Given the description of an element on the screen output the (x, y) to click on. 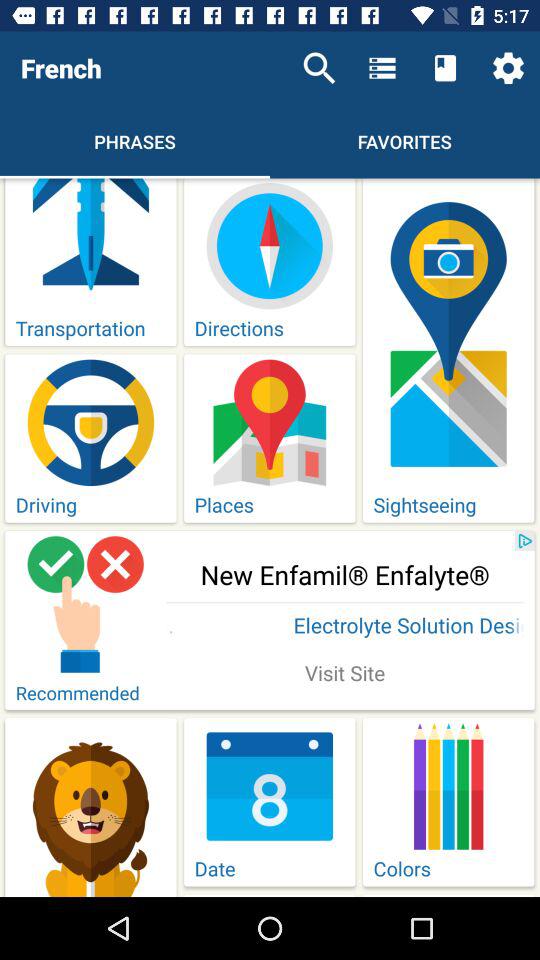
flip until electrolyte solution designed item (345, 627)
